Given the description of an element on the screen output the (x, y) to click on. 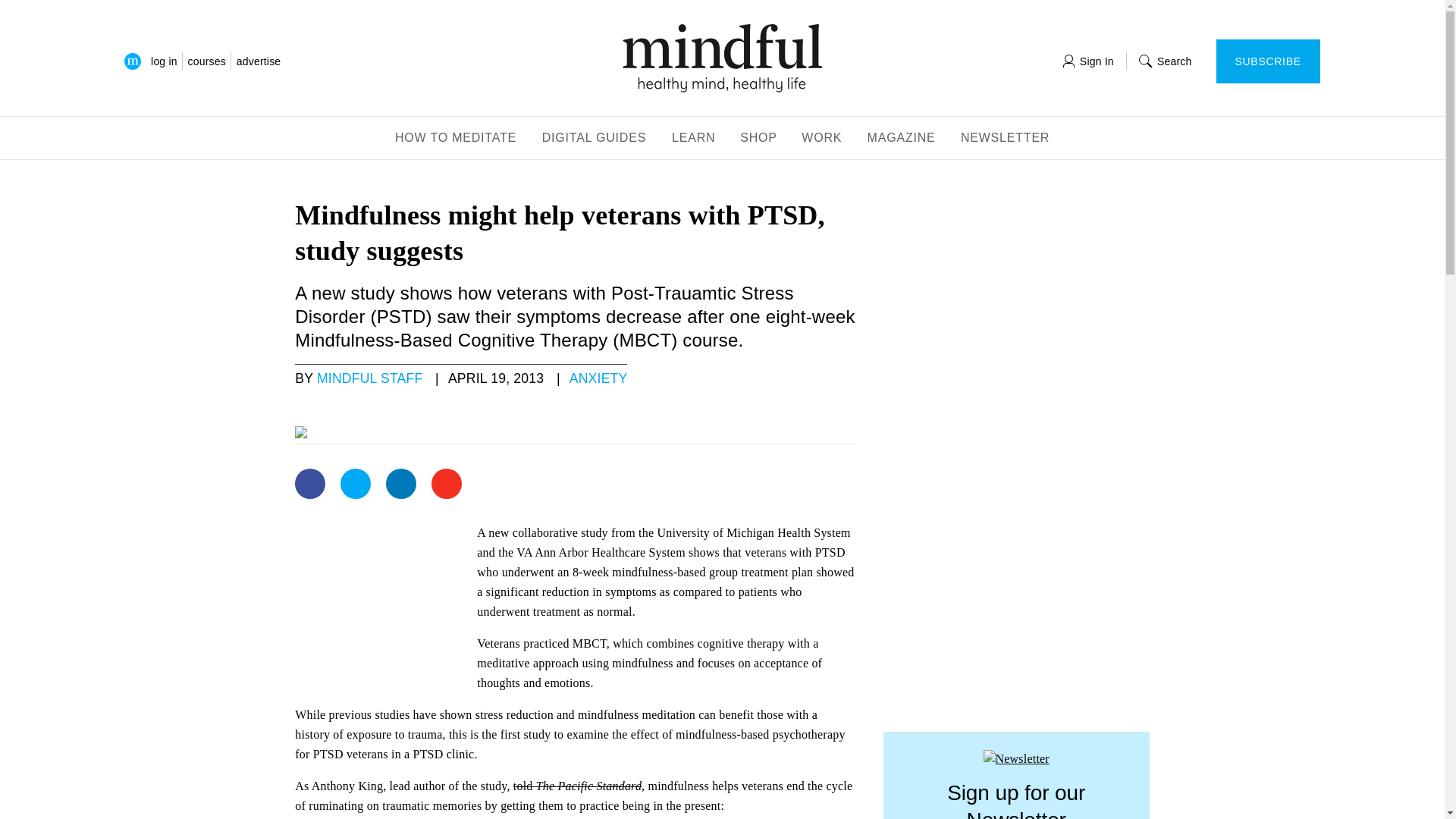
MAGAZINE (902, 139)
SUBSCRIBE (1267, 61)
Search (1165, 60)
log in (164, 60)
WORK (822, 139)
DIGITAL GUIDES (594, 139)
advertise (258, 60)
courses (206, 60)
Sign In (1087, 60)
SHOP (758, 139)
HOW TO MEDITATE (455, 139)
NEWSLETTER (1004, 139)
LEARN (693, 139)
